Given the description of an element on the screen output the (x, y) to click on. 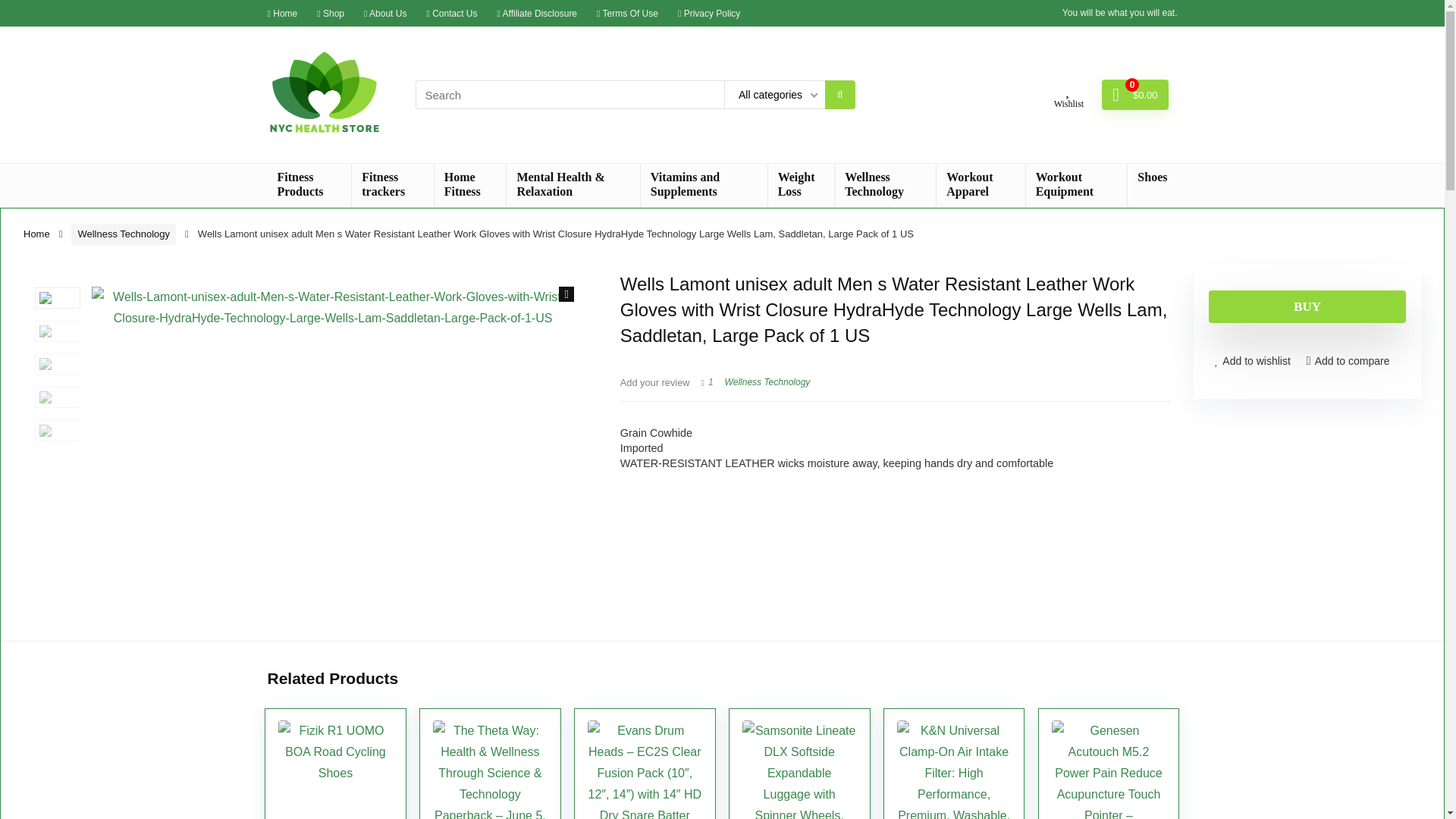
Home (281, 12)
Fitness trackers (392, 185)
Affiliate Disclosure (537, 12)
Add your review (655, 382)
Workout Apparel (980, 185)
Home Fitness (469, 185)
Weight Loss (801, 185)
Privacy Policy (708, 12)
Contact Us (451, 12)
About Us (385, 12)
Shoes (1151, 177)
Vitamins and Supplements (703, 185)
Shop (330, 12)
View all posts in Wellness Technology (767, 381)
Fitness Products (308, 185)
